Given the description of an element on the screen output the (x, y) to click on. 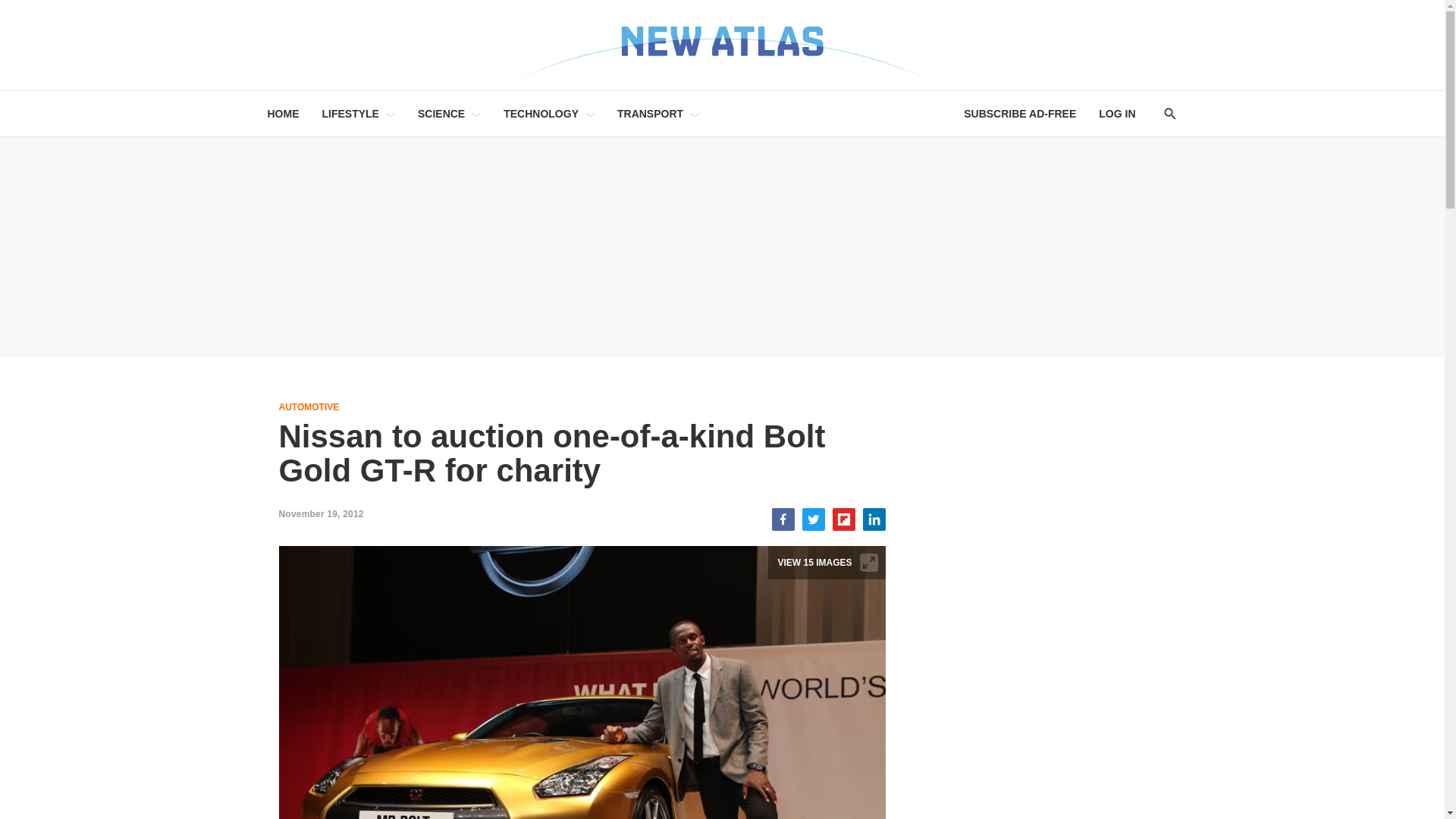
View full-screen (868, 562)
